Given the description of an element on the screen output the (x, y) to click on. 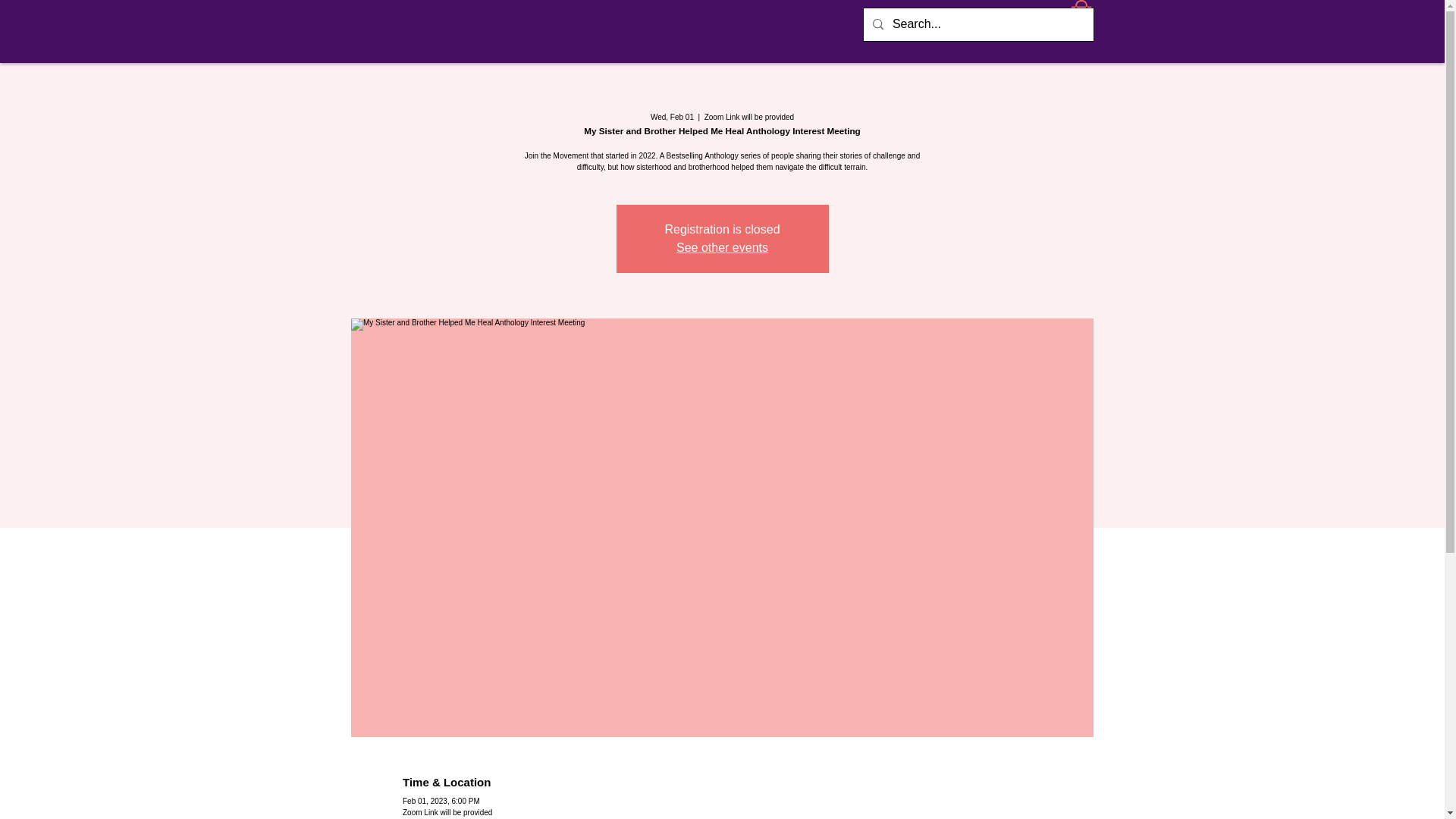
See other events (722, 246)
